Given the description of an element on the screen output the (x, y) to click on. 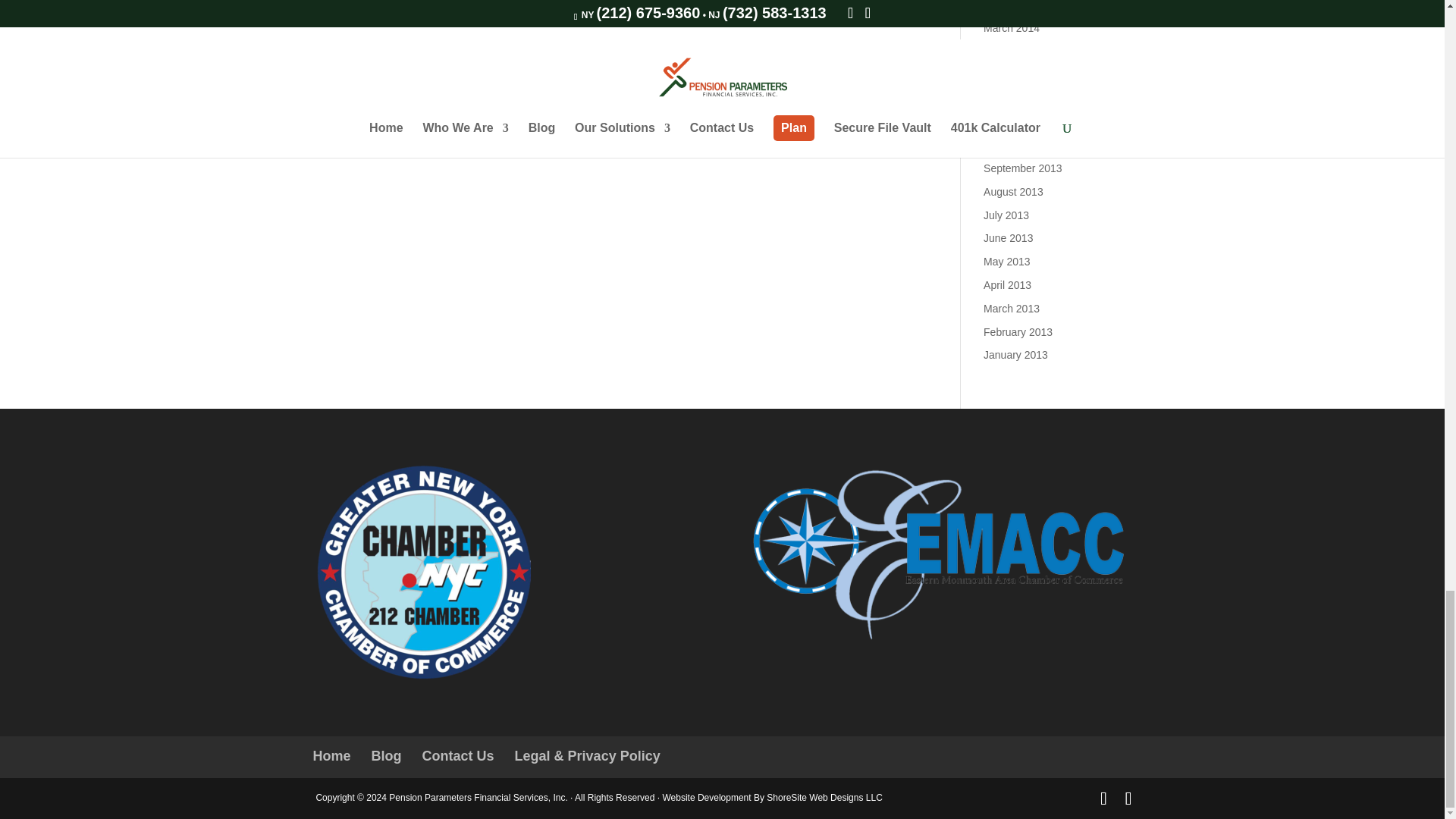
Expert Website Solutions (824, 797)
